Given the description of an element on the screen output the (x, y) to click on. 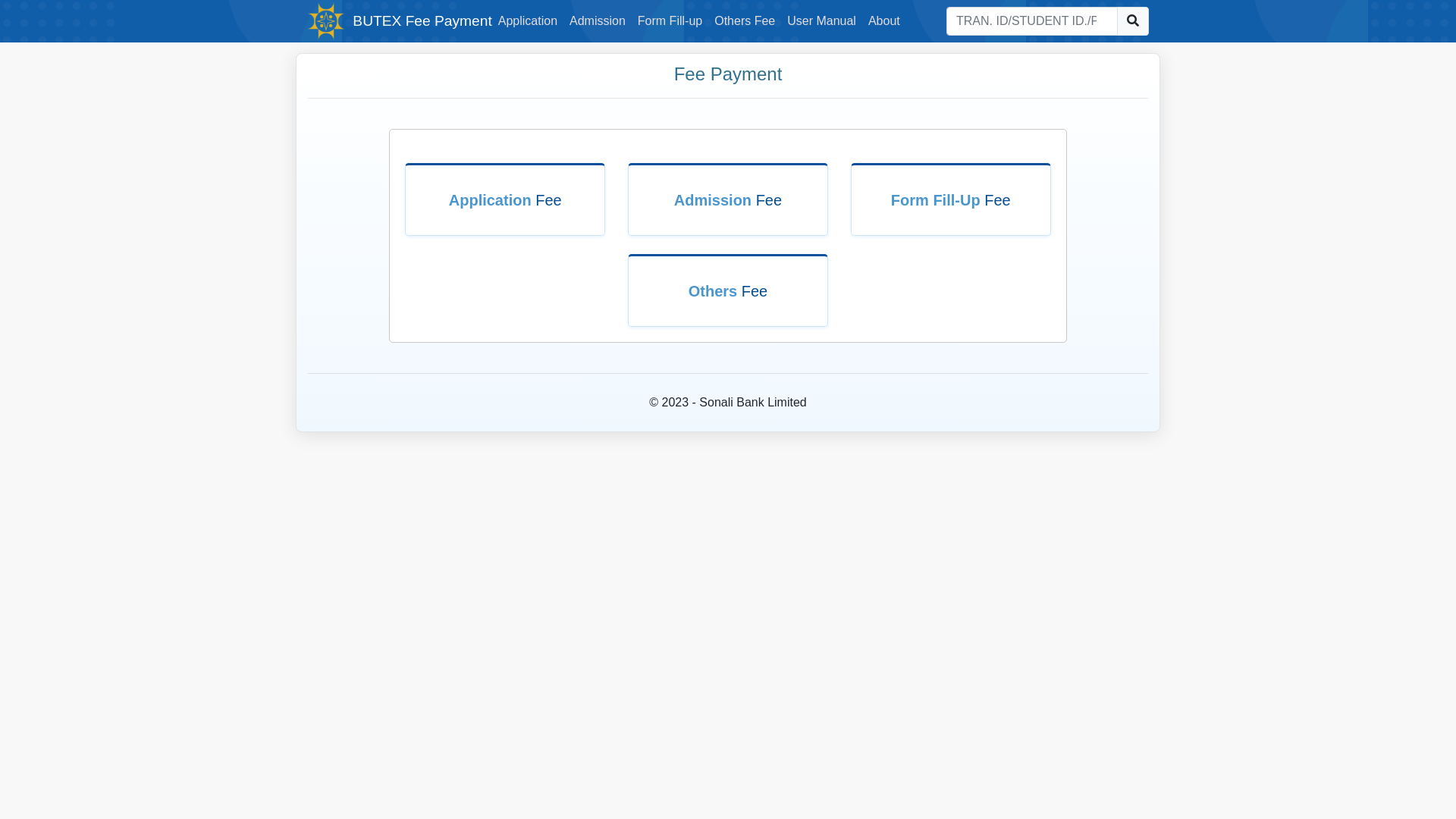
Application Fee Element type: text (504, 200)
User Manual Element type: text (821, 21)
Admission Element type: text (597, 21)
BUTEX Fee Payment Element type: text (421, 20)
Home Element type: hover (326, 19)
Others Fee Element type: text (744, 21)
Form Fill-Up Fee Element type: text (950, 200)
About Element type: text (884, 21)
Form Fill-up Element type: text (669, 21)
Admission Fee Element type: text (727, 200)
Application Element type: text (527, 21)
Others Fee Element type: text (727, 291)
